Given the description of an element on the screen output the (x, y) to click on. 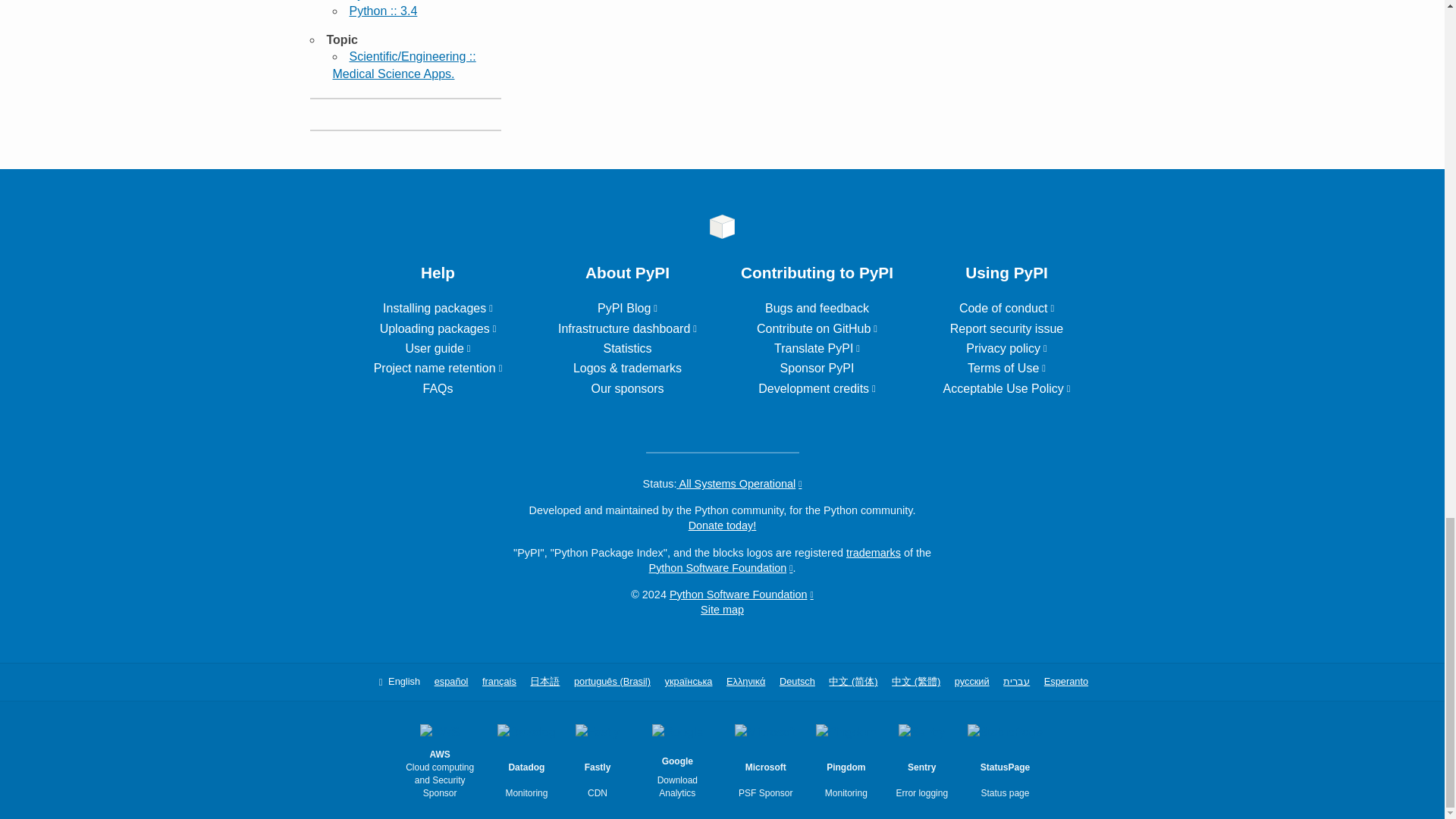
Python :: 3.4 (382, 10)
Python :: 2.7 (382, 0)
